Given the description of an element on the screen output the (x, y) to click on. 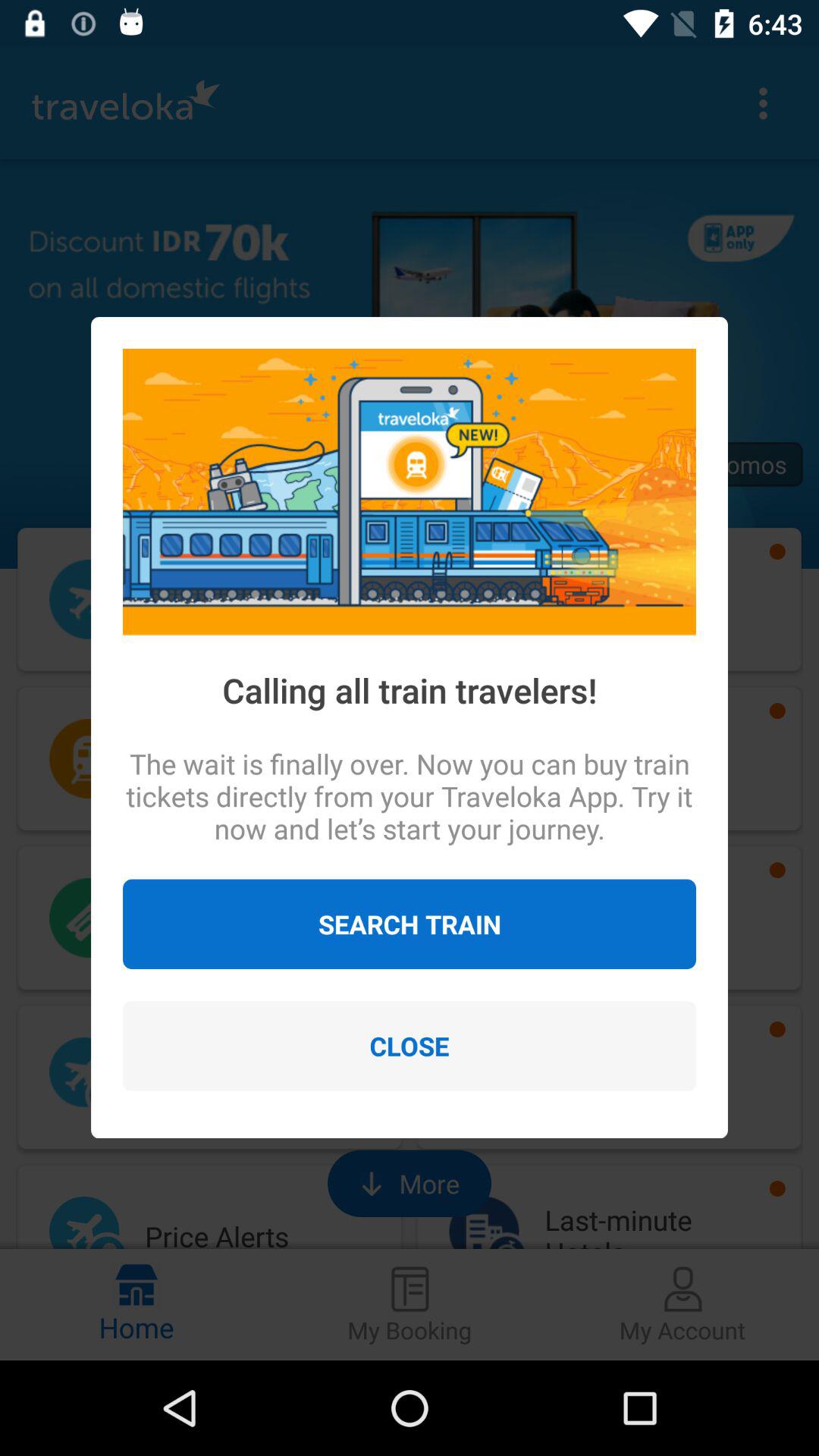
choose the item below the the wait is item (409, 924)
